Given the description of an element on the screen output the (x, y) to click on. 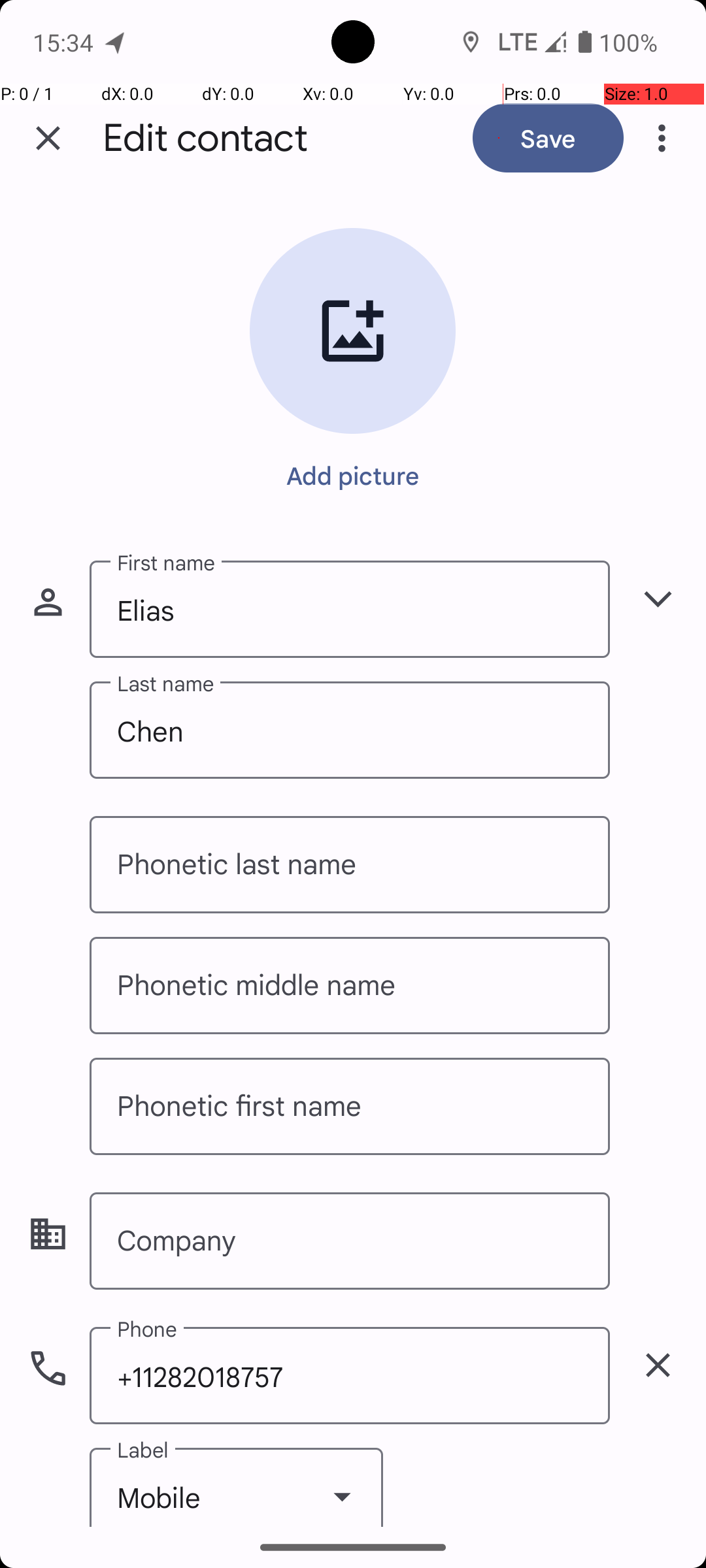
Add picture Element type: android.widget.Button (352, 474)
Elias Element type: android.widget.EditText (349, 608)
Chen Element type: android.widget.EditText (349, 729)
Phonetic last name Element type: android.widget.EditText (349, 864)
Phonetic middle name Element type: android.widget.EditText (349, 985)
Phonetic first name Element type: android.widget.EditText (349, 1106)
+11282018757 Element type: android.widget.EditText (349, 1375)
Delete Mobile Phone Element type: android.widget.FrameLayout (657, 1365)
delete Element type: android.widget.ImageView (657, 1365)
